Given the description of an element on the screen output the (x, y) to click on. 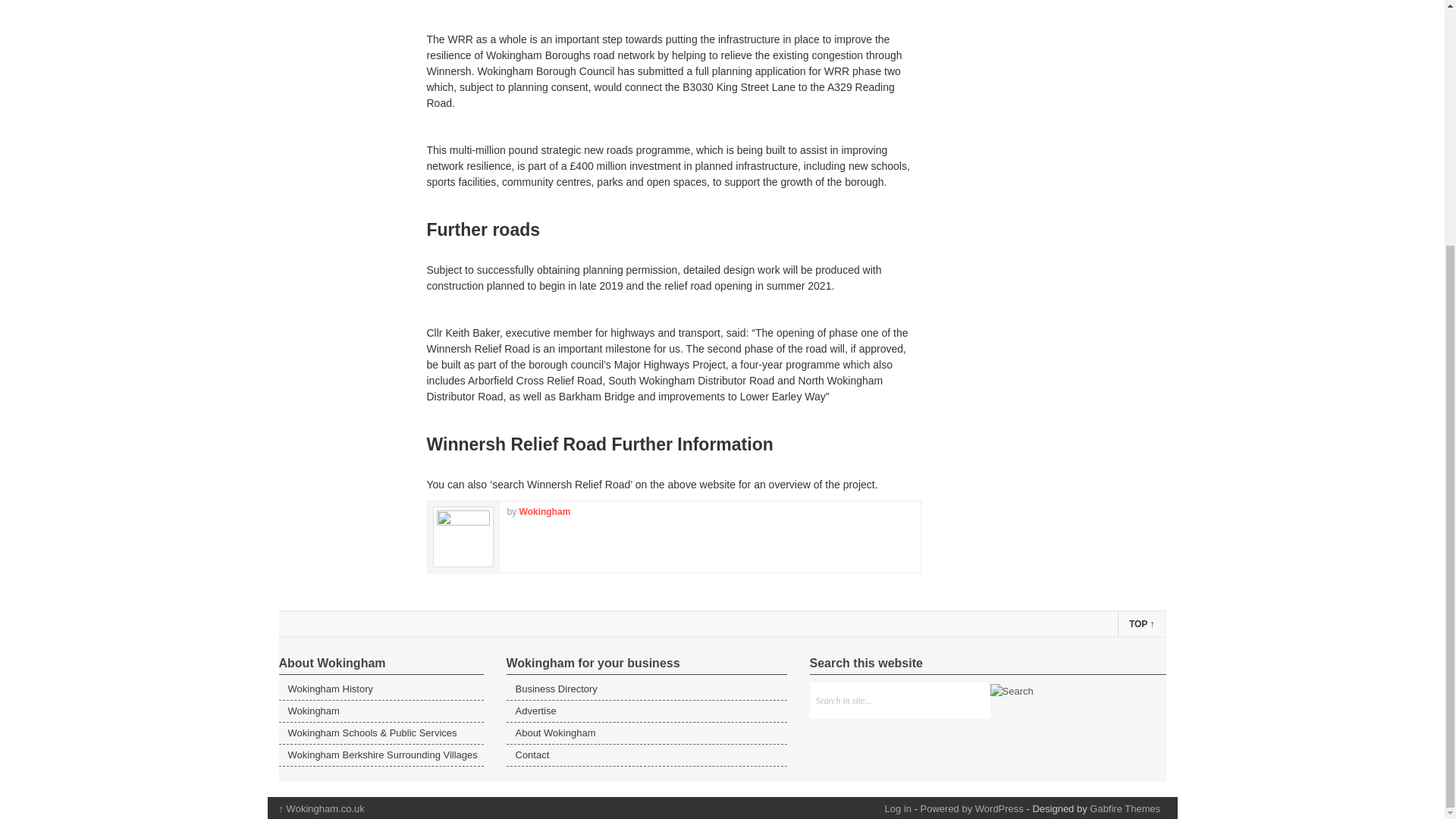
Search in site... (899, 700)
